Given the description of an element on the screen output the (x, y) to click on. 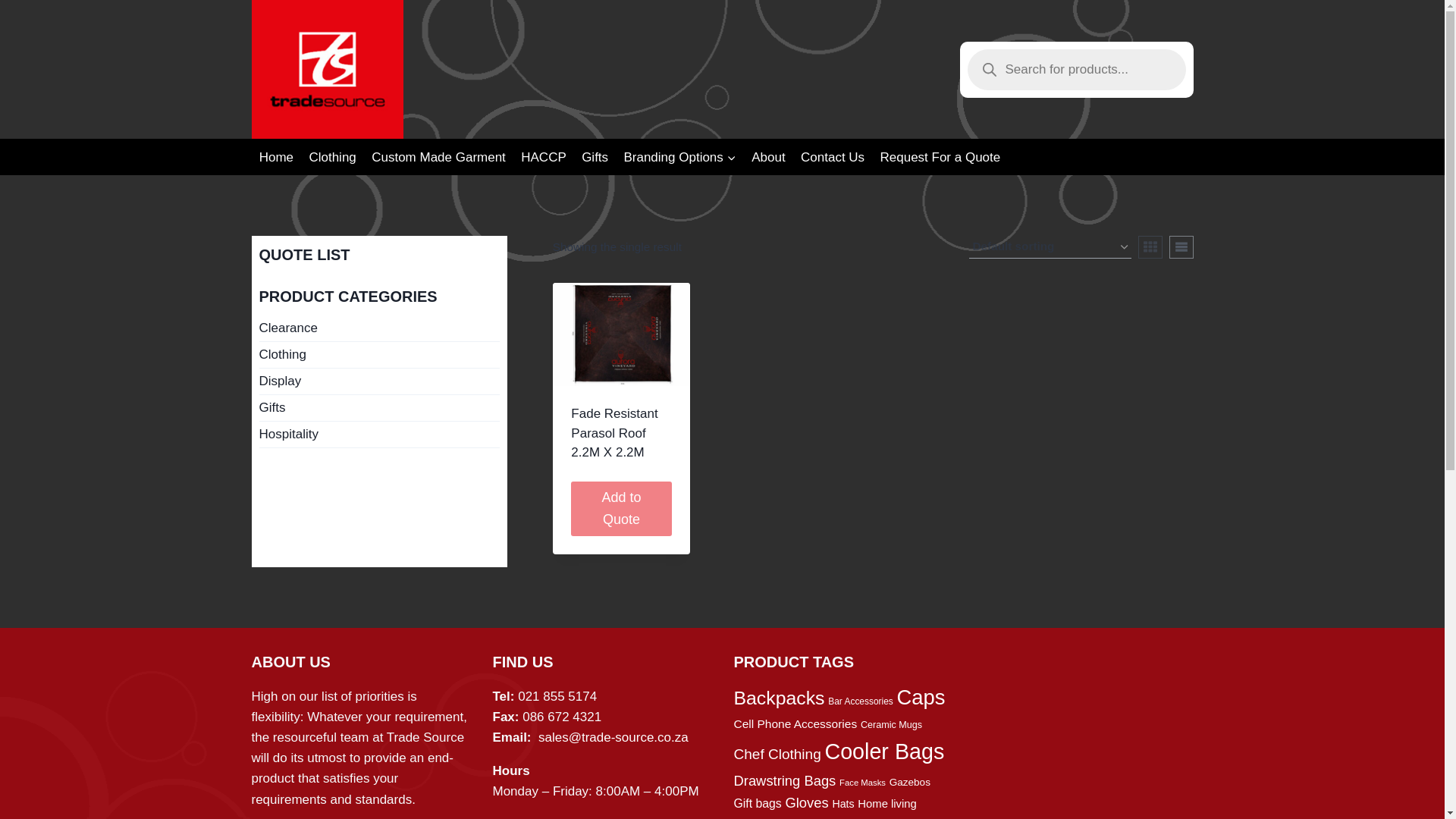
Grid View (1149, 246)
Home (276, 156)
Contact Us (832, 156)
Request For a Quote (939, 156)
Custom Made Garment (438, 156)
Send an email to Trade Source (613, 737)
Gifts (379, 407)
Branding Options (679, 156)
Display (379, 381)
HACCP (543, 156)
